Given the description of an element on the screen output the (x, y) to click on. 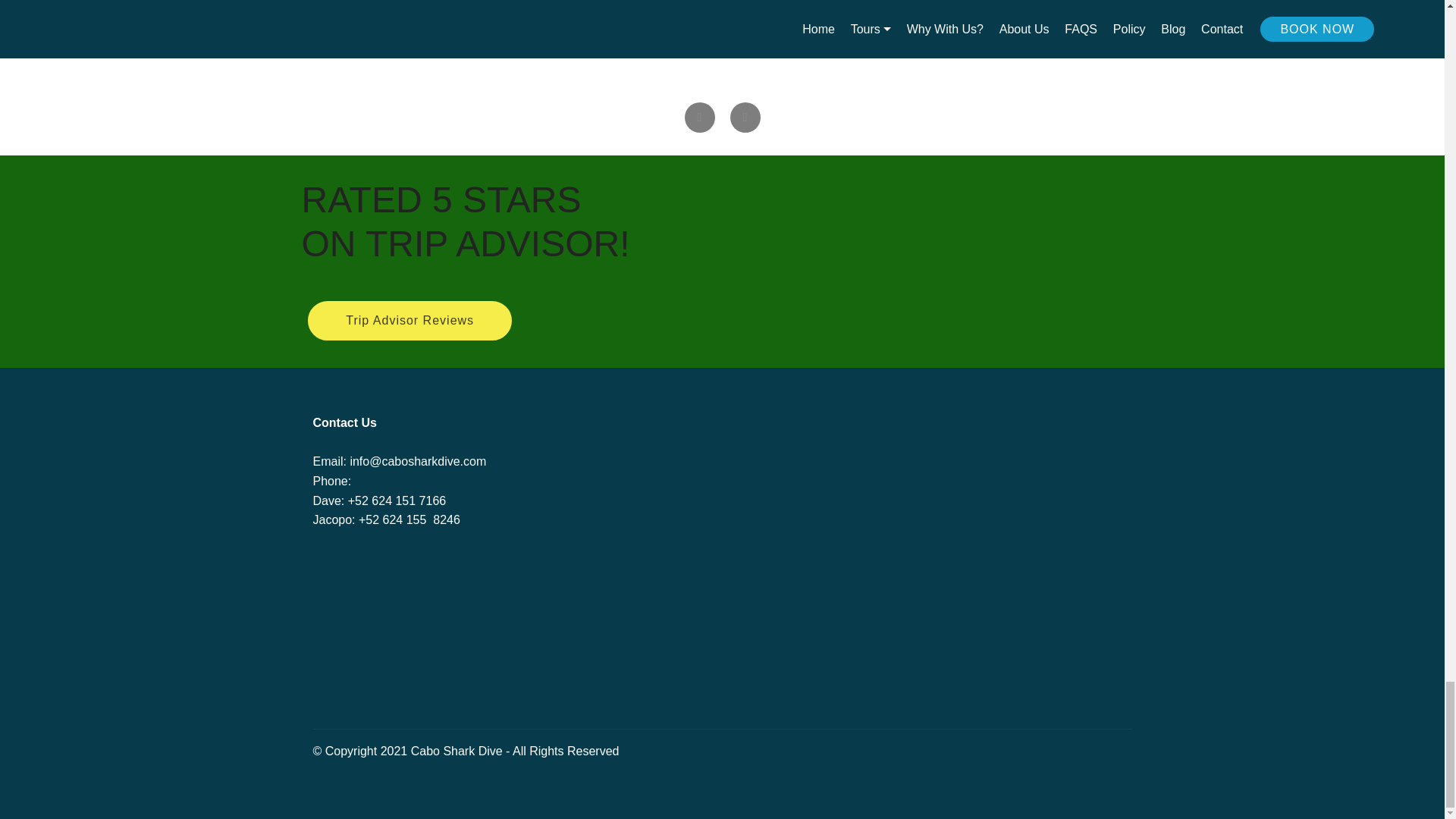
Next (744, 117)
Previous (699, 117)
Trip Advisor Reviews (409, 320)
